Given the description of an element on the screen output the (x, y) to click on. 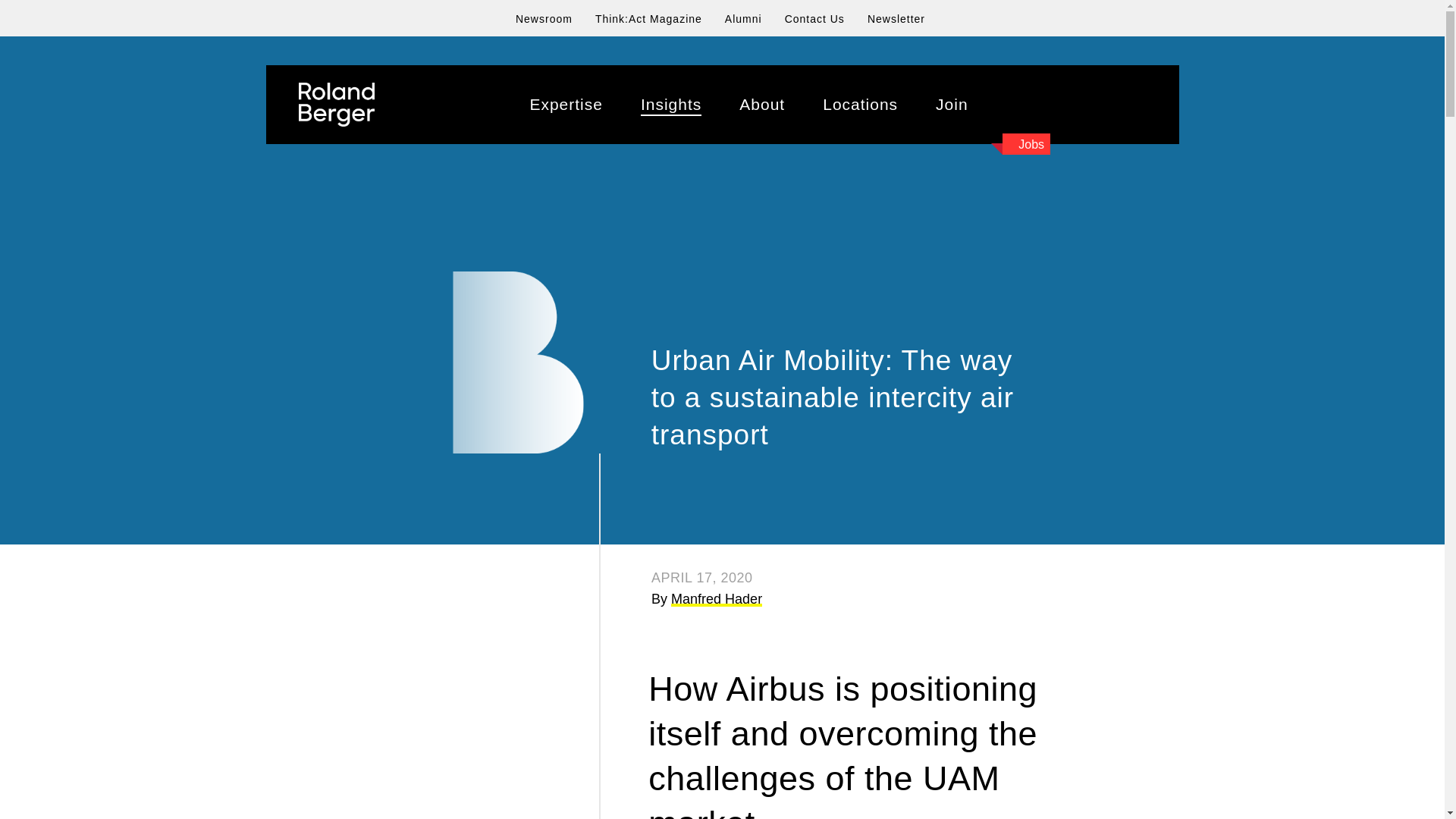
Insights (670, 105)
About (761, 105)
Expertise (565, 105)
Join (952, 105)
Locations (860, 105)
Expertise (565, 105)
Roland Berger (336, 104)
